Given the description of an element on the screen output the (x, y) to click on. 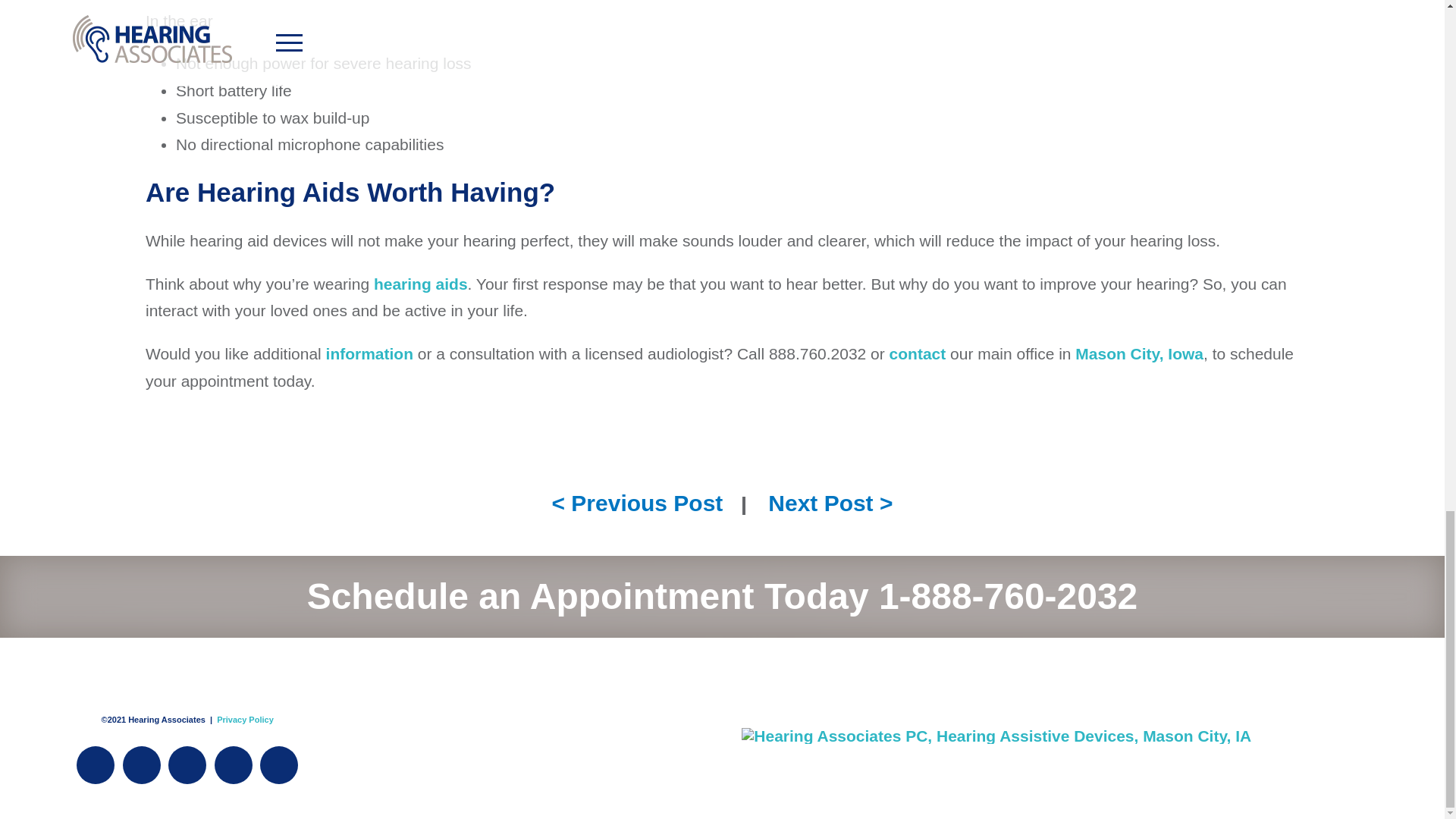
information (369, 353)
Mason City, Iowa (1139, 353)
Schedule an Appointment Today (588, 596)
hearing aids (420, 283)
Privacy Policy (244, 718)
contact (917, 353)
1-888-760-2032 (1008, 596)
